Given the description of an element on the screen output the (x, y) to click on. 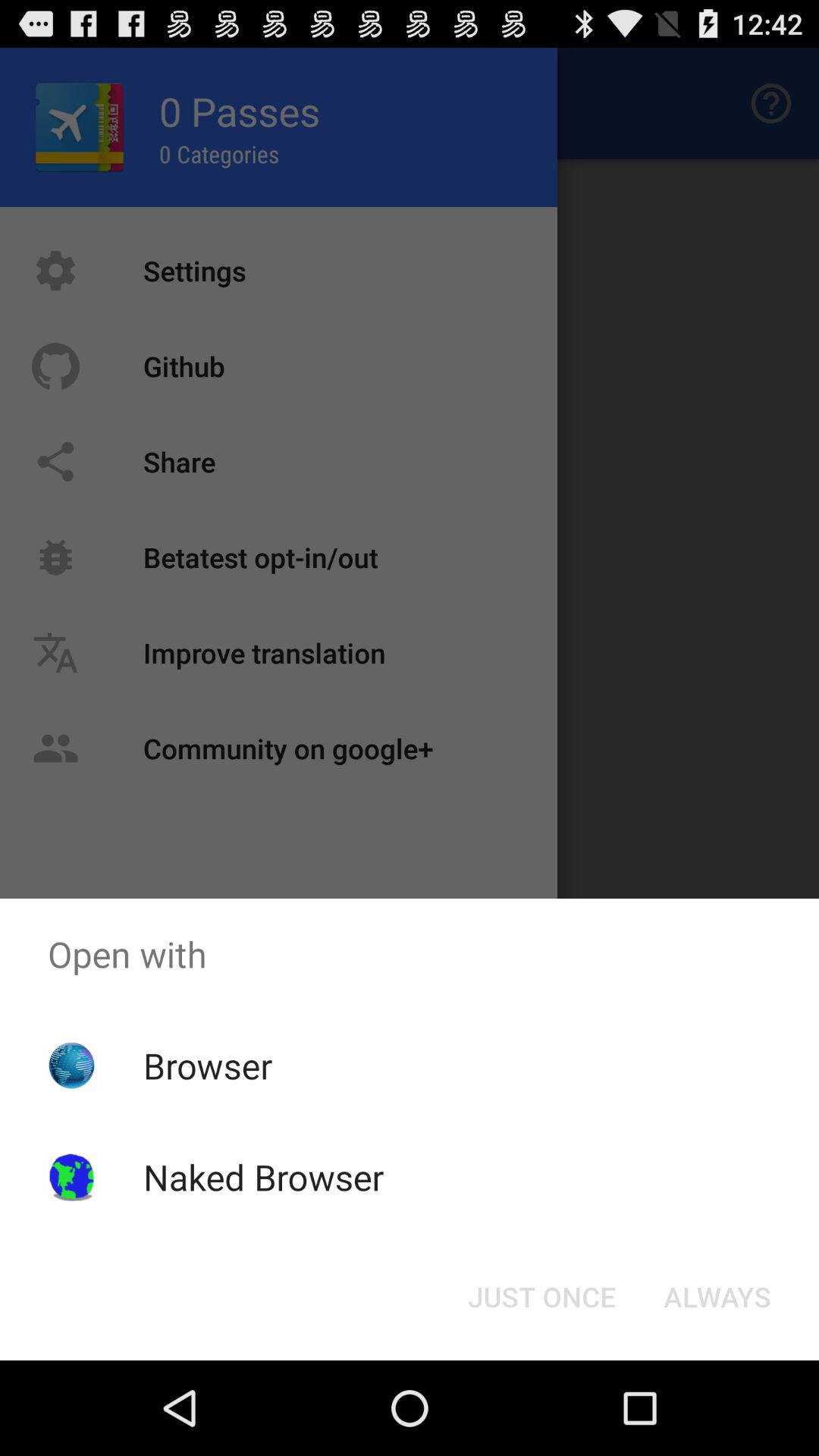
tap naked browser (263, 1176)
